Given the description of an element on the screen output the (x, y) to click on. 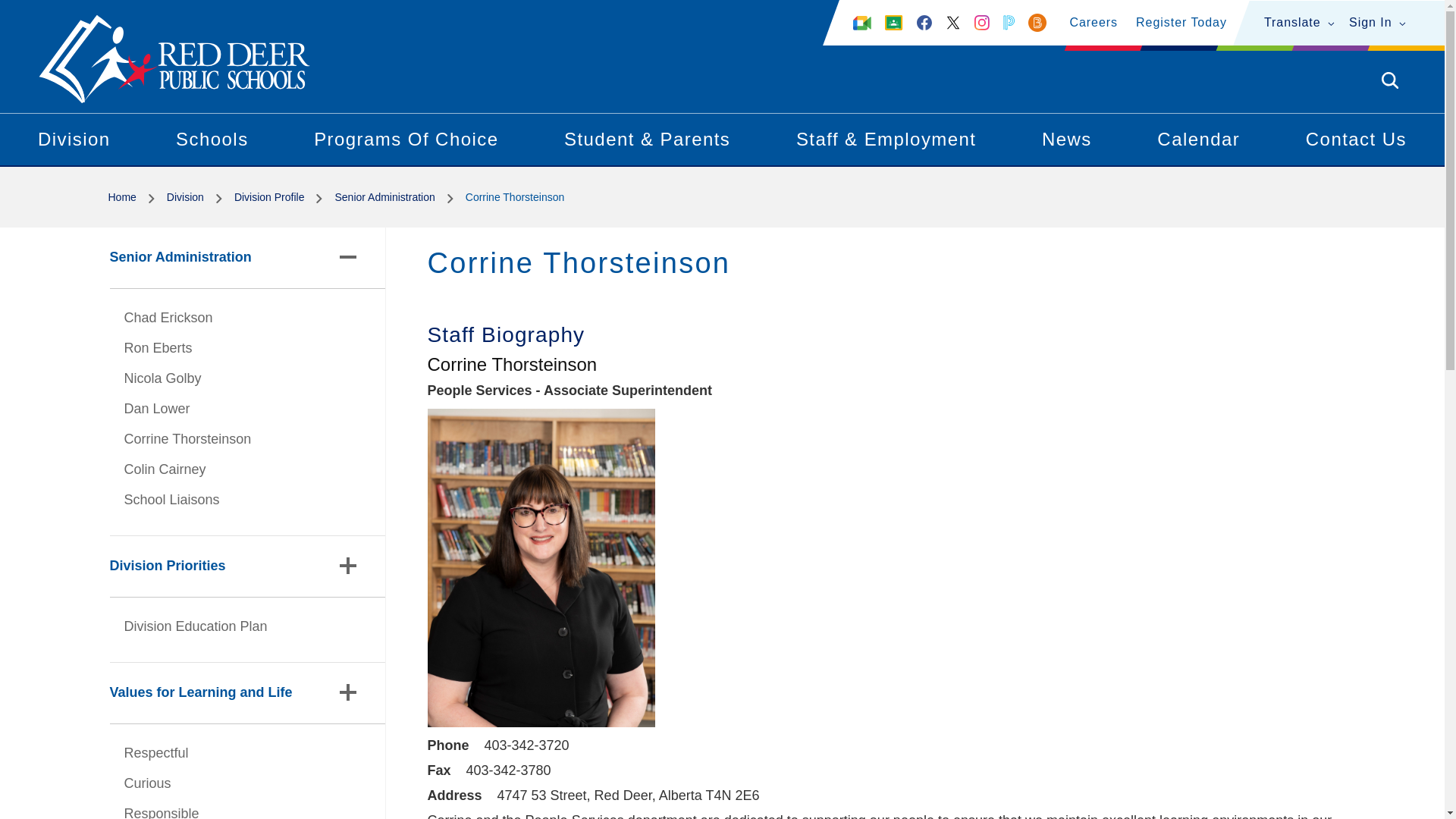
Careers (1093, 22)
Register Today (1181, 22)
Translate (1299, 21)
